Given the description of an element on the screen output the (x, y) to click on. 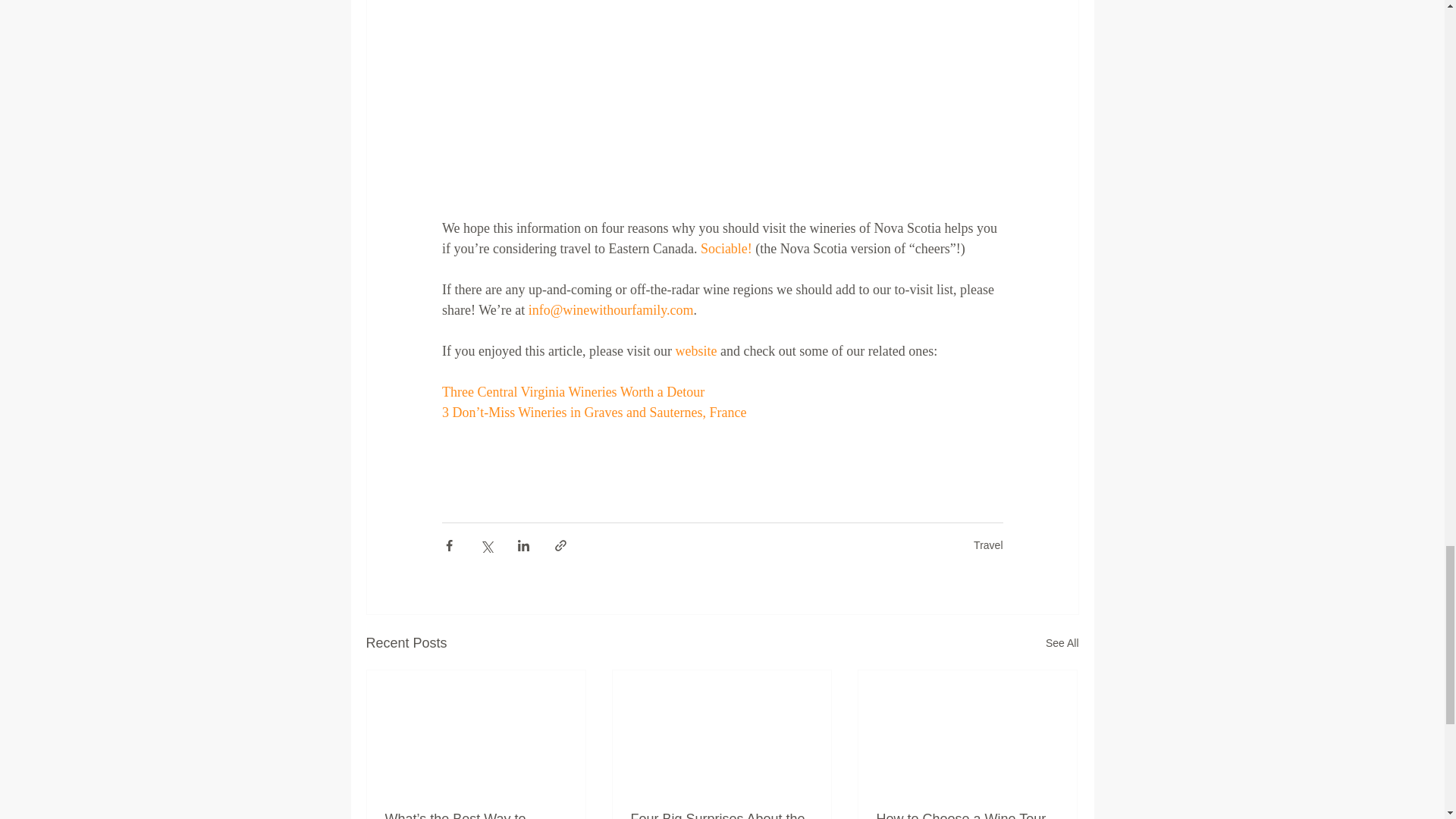
See All (1061, 643)
Four Big Surprises About the Finger Lakes Wine Region (721, 815)
Sociable!  (727, 248)
website (695, 350)
Travel (988, 544)
Three Central Virginia Wineries Worth a Detour (572, 391)
